Given the description of an element on the screen output the (x, y) to click on. 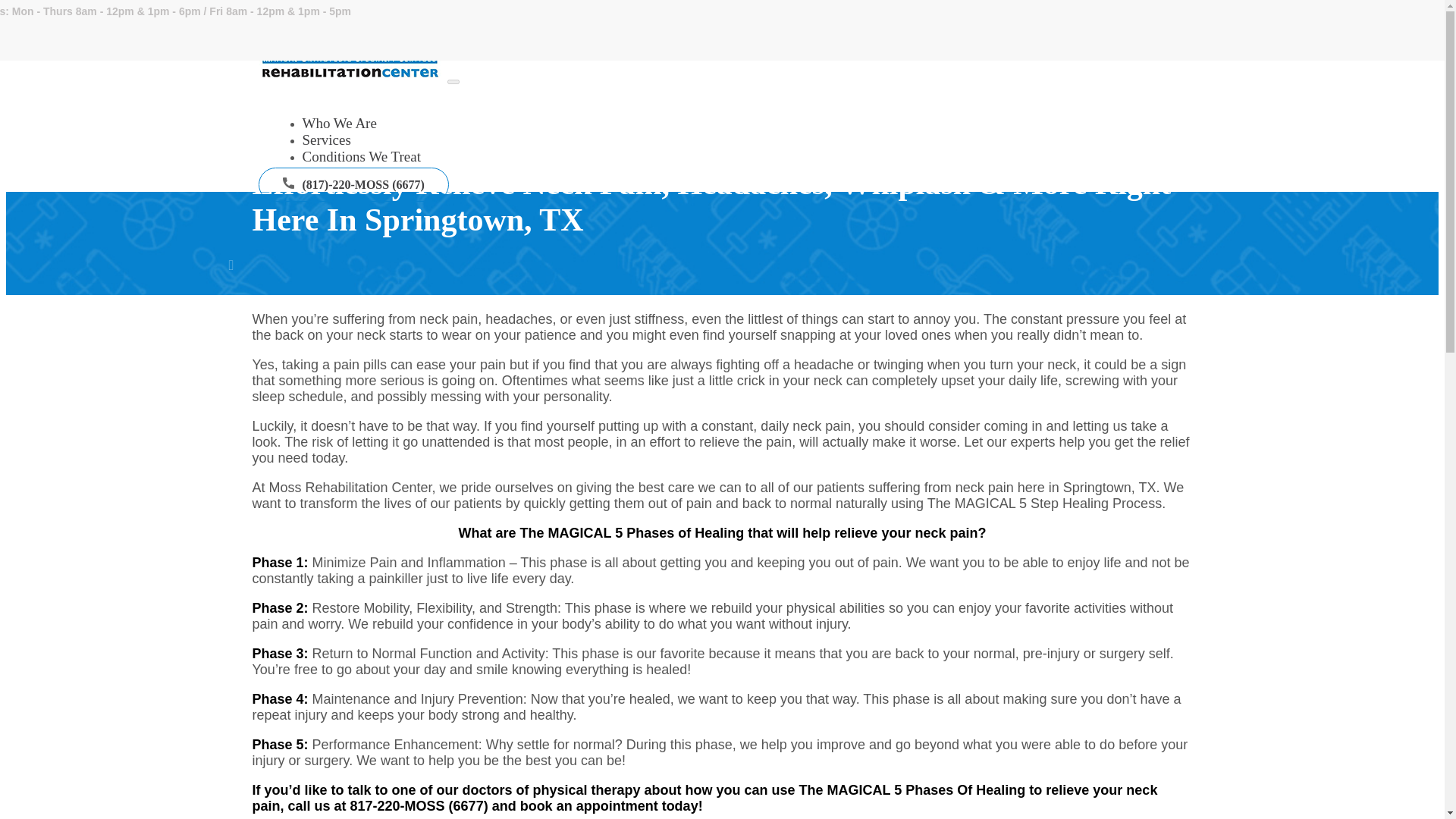
Conditions We Treat (360, 157)
Services (325, 140)
Who We Are (338, 123)
